Given the description of an element on the screen output the (x, y) to click on. 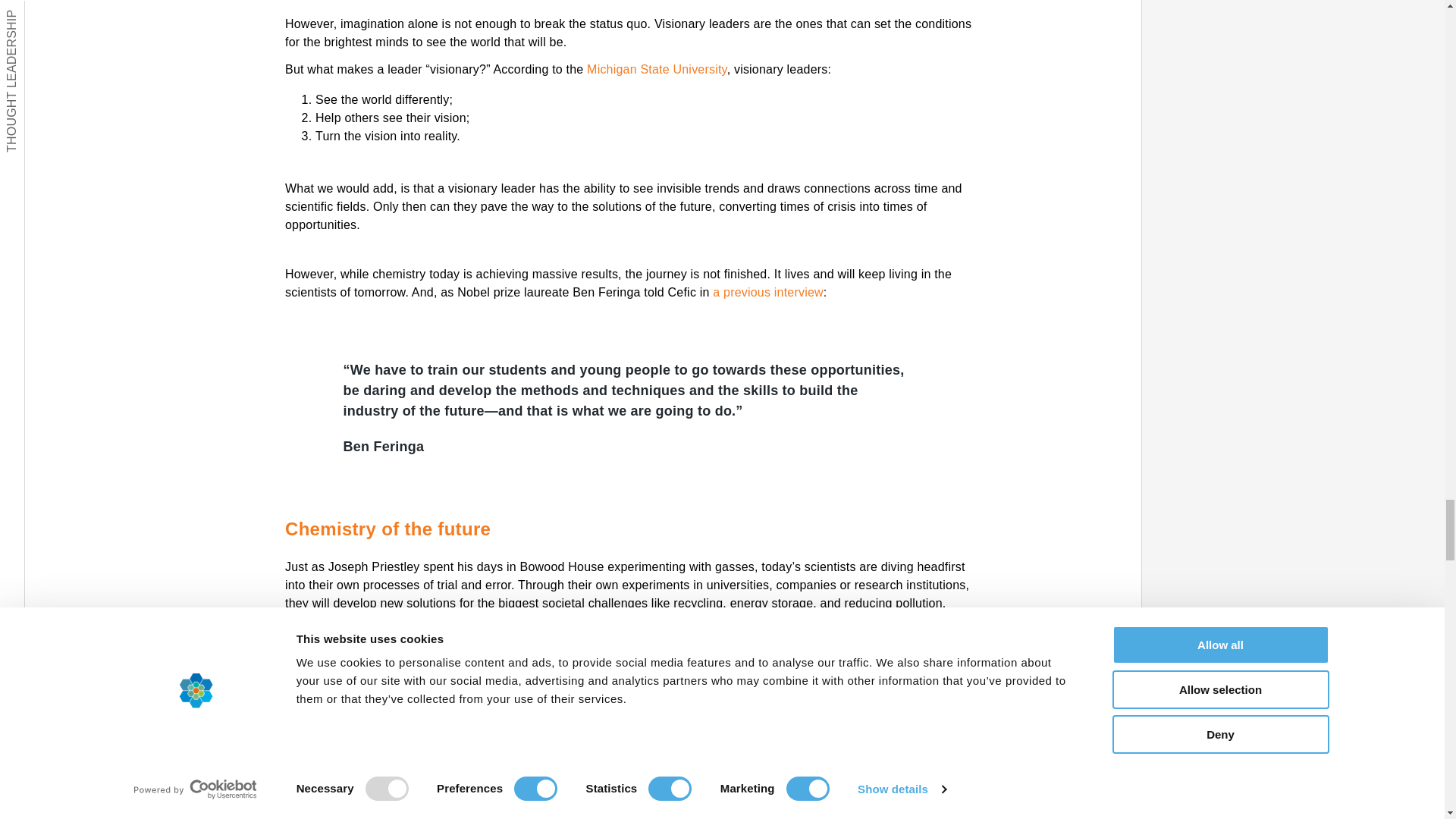
YouTube video player (630, 805)
